Given the description of an element on the screen output the (x, y) to click on. 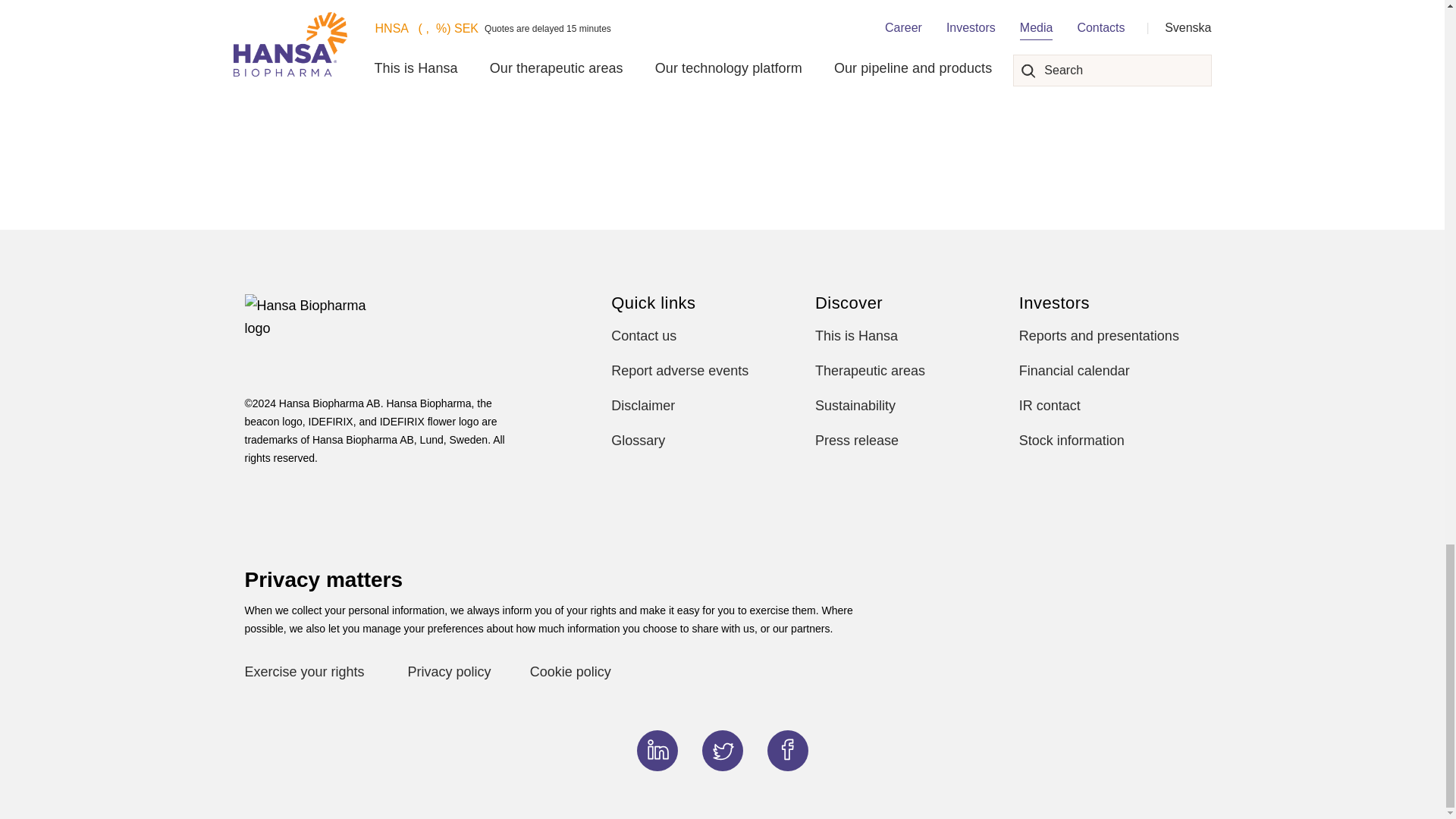
Facebook (787, 749)
Twitter (721, 749)
LinkedIn (657, 749)
